Given the description of an element on the screen output the (x, y) to click on. 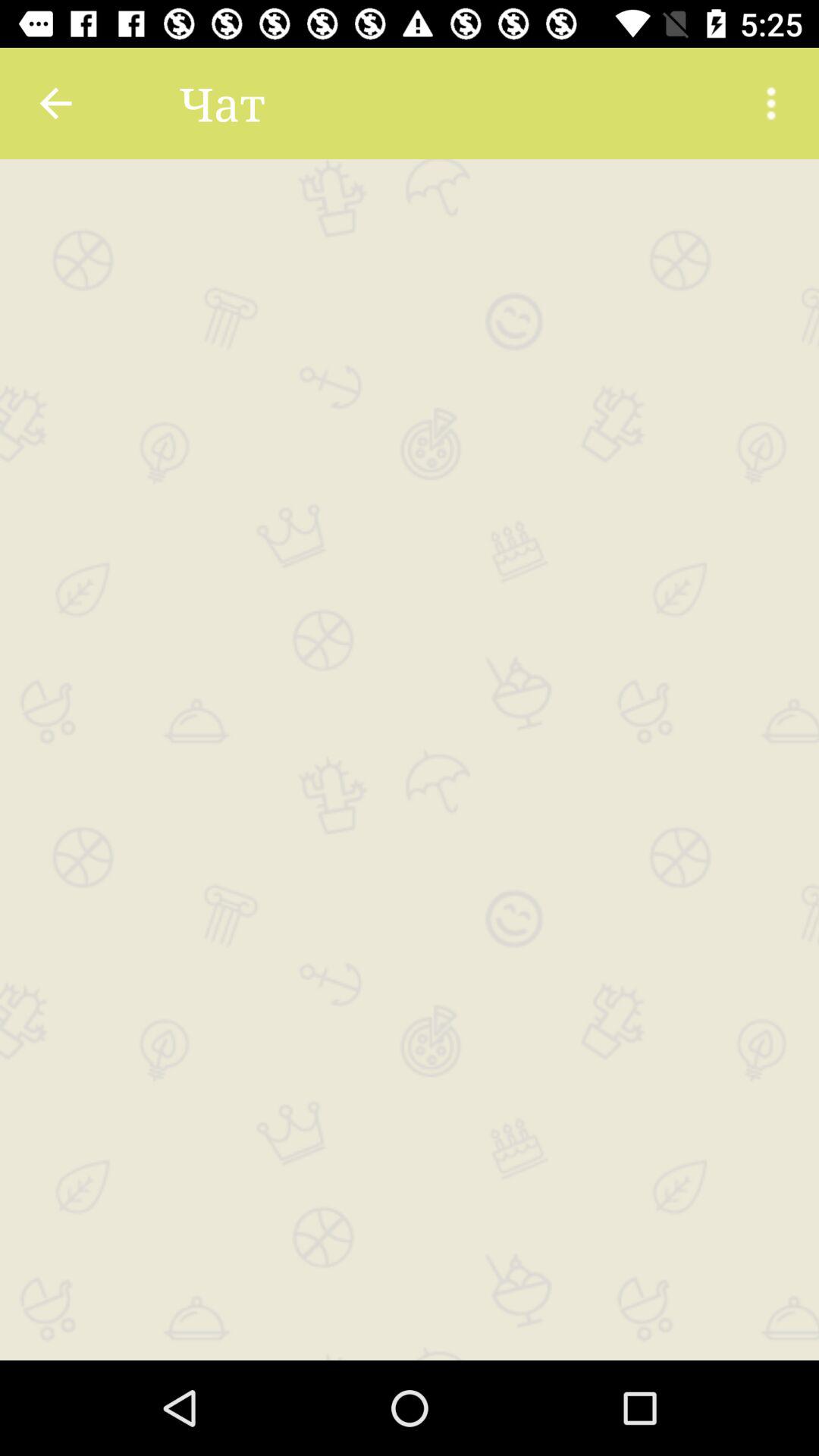
click icon at the center (409, 759)
